Given the description of an element on the screen output the (x, y) to click on. 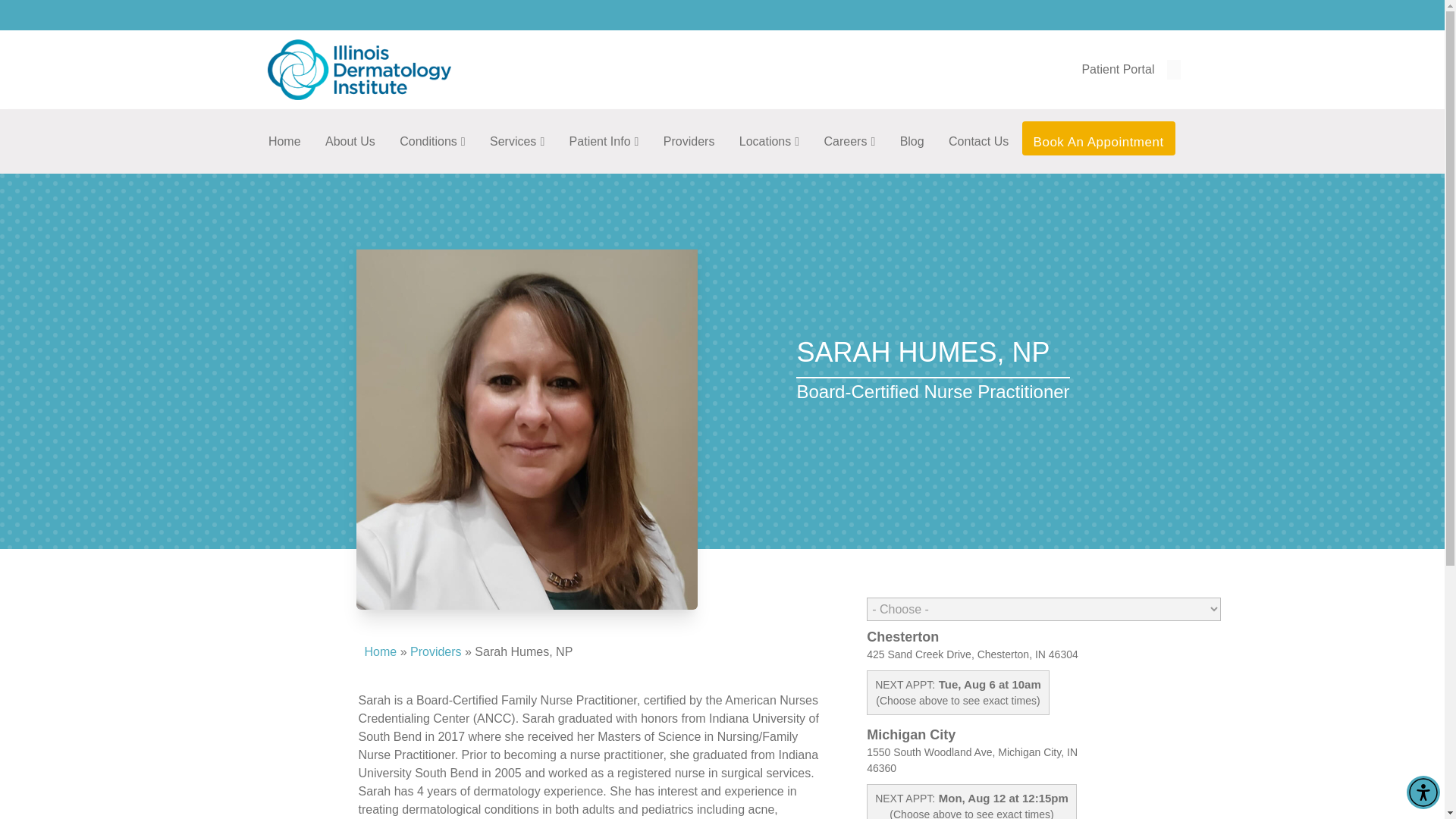
Accessibility Menu (1422, 792)
Conditions (432, 137)
About Us (350, 137)
Home (285, 137)
Patient Portal (1117, 70)
